Given the description of an element on the screen output the (x, y) to click on. 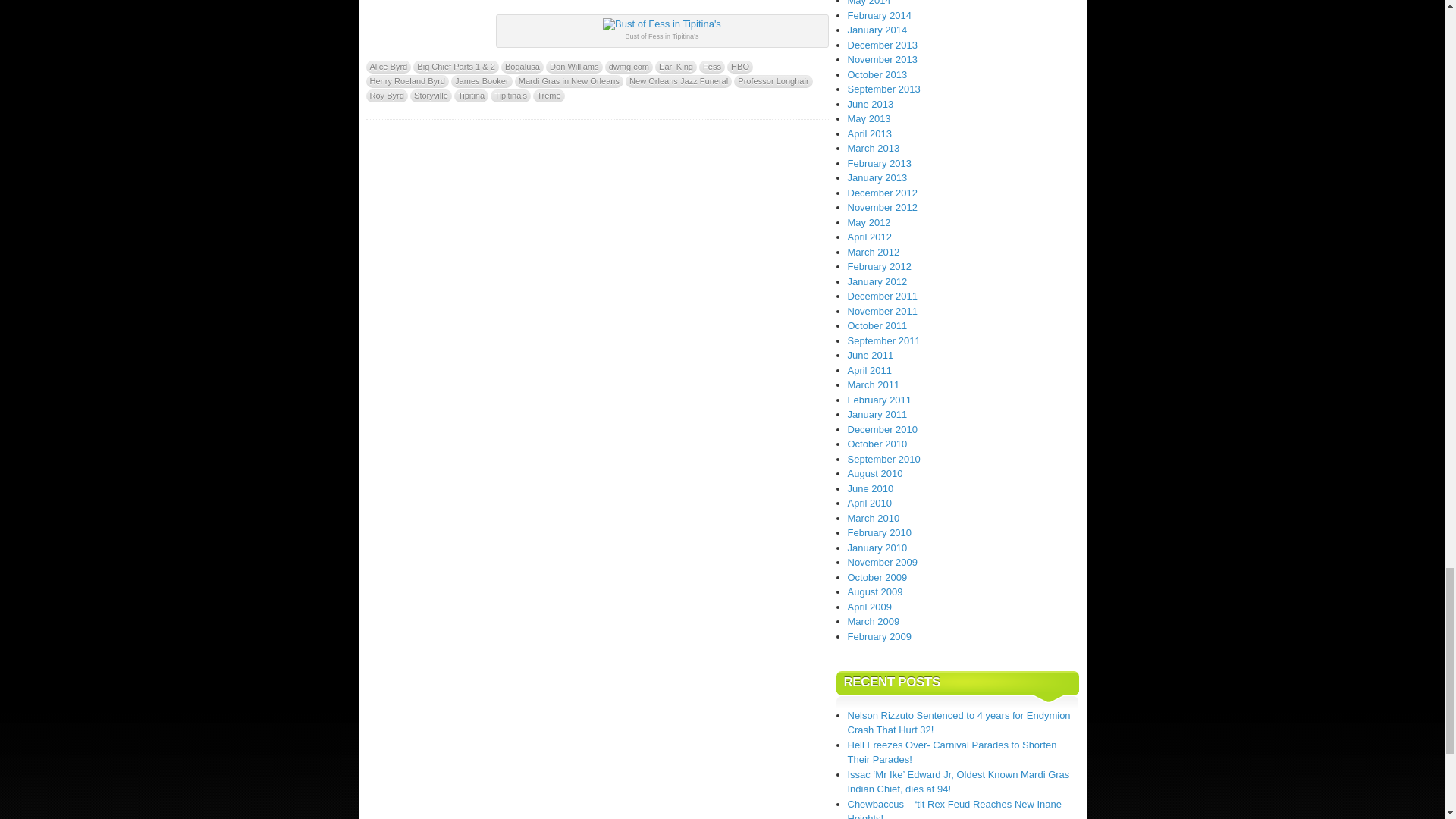
Alice Byrd (387, 66)
Earl King (676, 66)
Fess (711, 66)
Professor Longhair (772, 81)
Mardi Gras in New Orleans (569, 81)
New Orleans Jazz Funeral (679, 81)
Bogalusa (521, 66)
Don Williams (574, 66)
HBO (739, 66)
James Booker (481, 81)
Bust of Fess in Tipitina's (661, 24)
Henry Roeland Byrd (406, 81)
dwmg.com (628, 66)
